Given the description of an element on the screen output the (x, y) to click on. 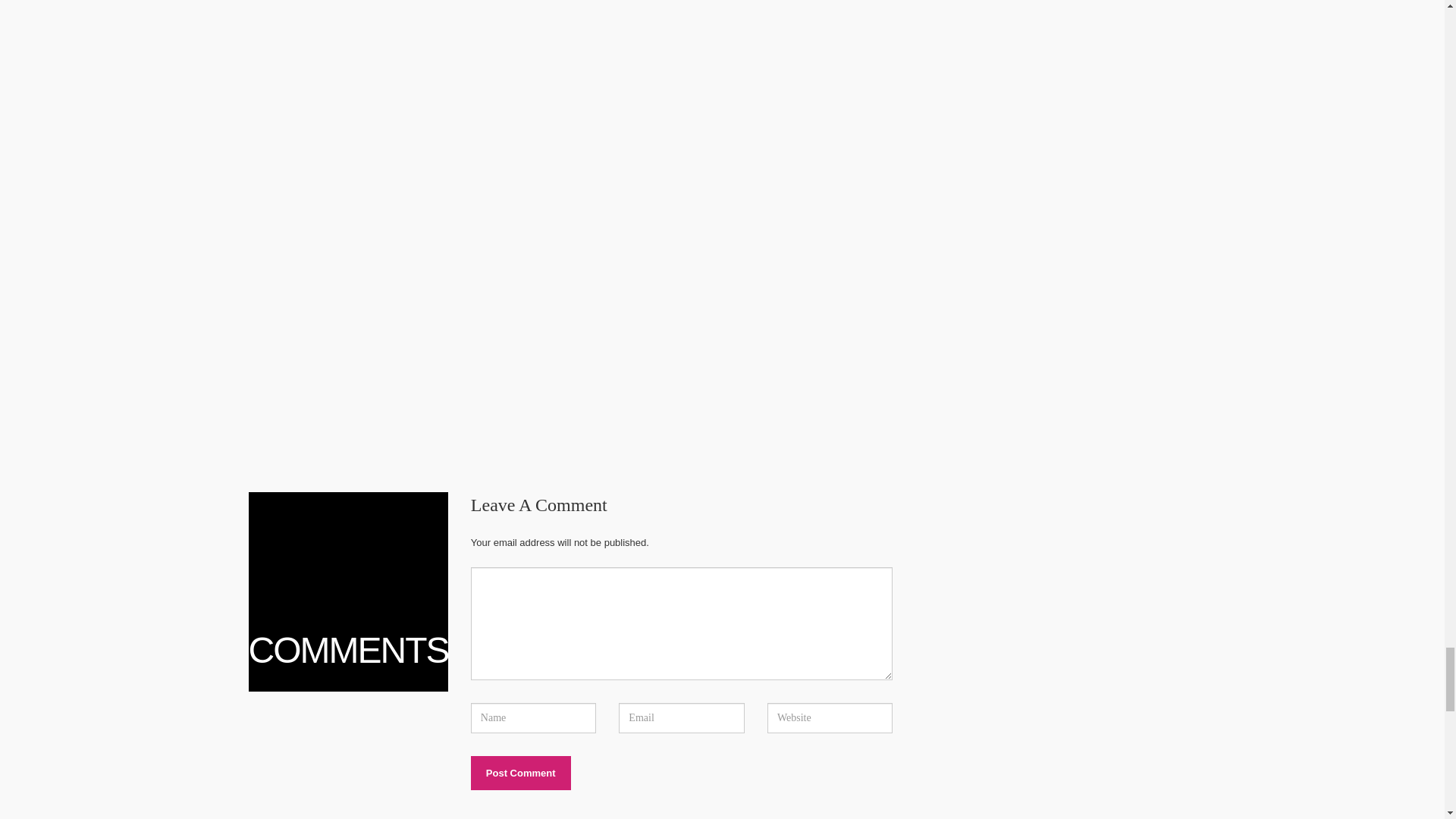
Post Comment (520, 772)
